Given the description of an element on the screen output the (x, y) to click on. 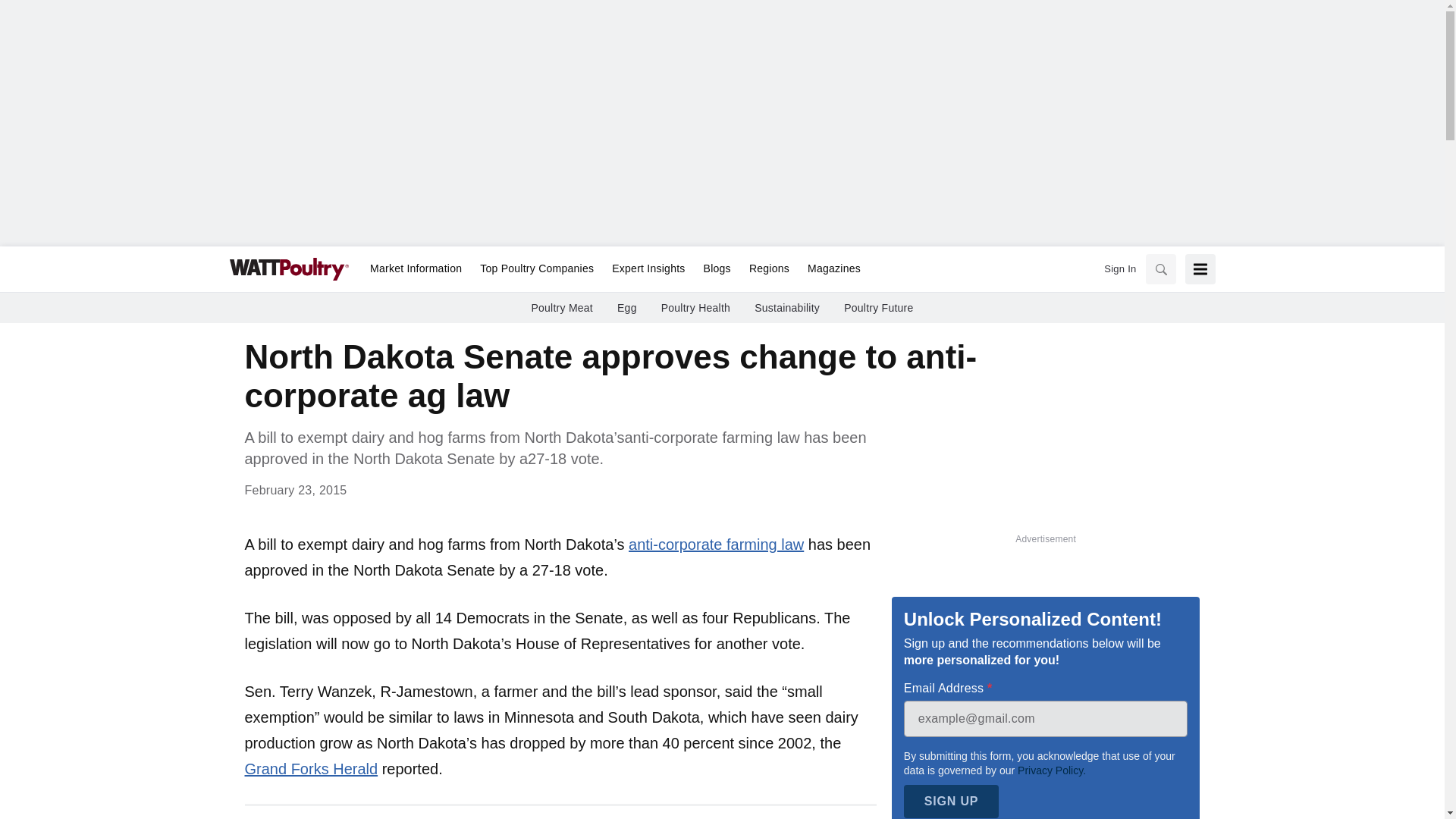
Market Information (415, 269)
anti-corporate farming law (715, 544)
Blogs (716, 269)
Top Poultry Companies (536, 269)
Poultry Future (878, 307)
Regions (768, 269)
Poultry Health (695, 307)
Sign In (1119, 268)
Grand Forks Herald (310, 768)
Expert Insights (648, 269)
Poultry Meat (561, 307)
Egg (627, 307)
Sustainability (786, 307)
Magazines (828, 269)
